Given the description of an element on the screen output the (x, y) to click on. 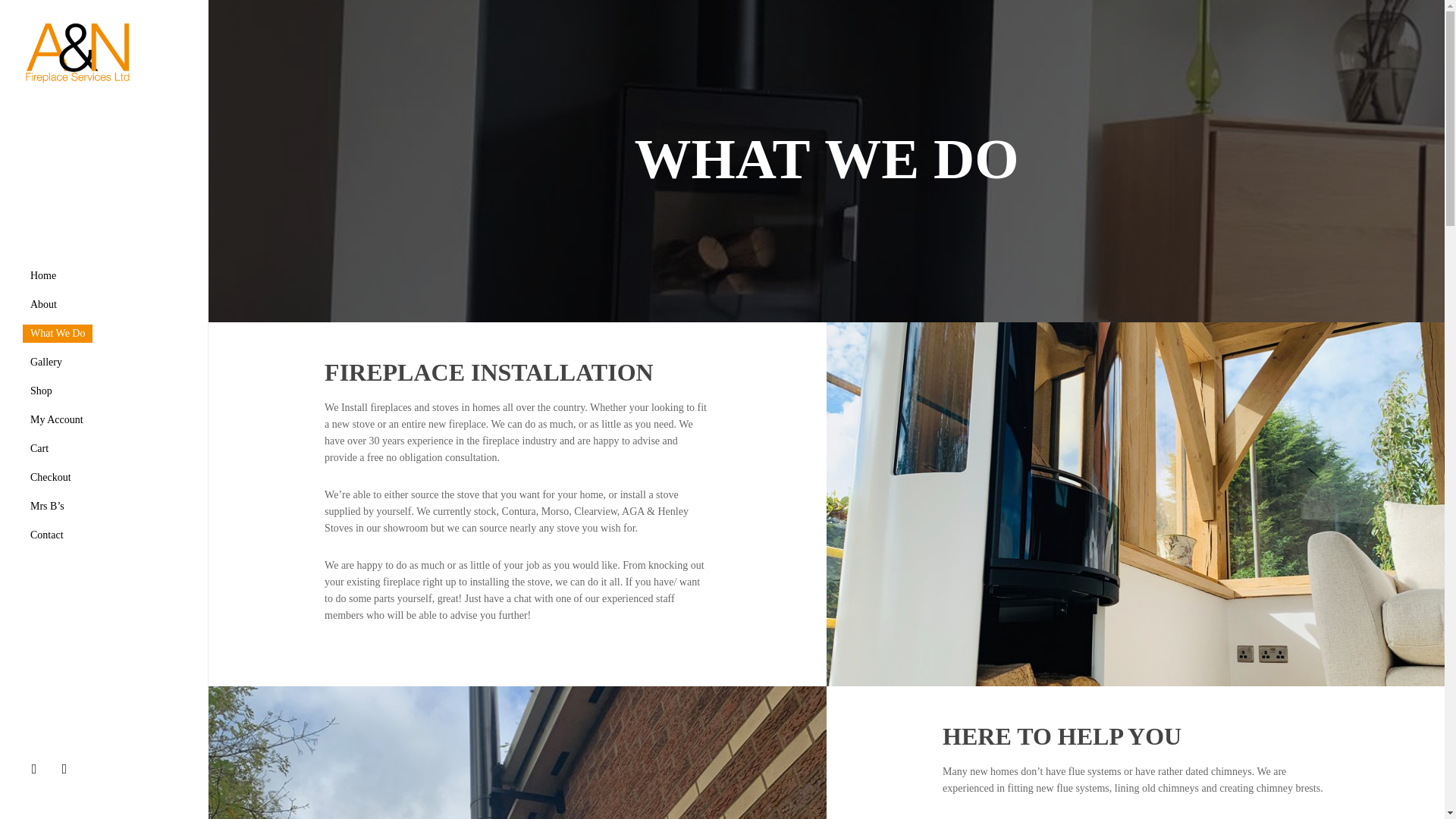
Checkout (50, 476)
Contact (793, 629)
My Account (793, 719)
Cart (793, 583)
About (43, 303)
About (793, 560)
What We Do (793, 765)
Shop (793, 742)
Gallery (46, 361)
What We Do (58, 332)
Shop (41, 389)
Home (43, 275)
Cart (39, 448)
Contact (47, 534)
Checkout (793, 606)
